Given the description of an element on the screen output the (x, y) to click on. 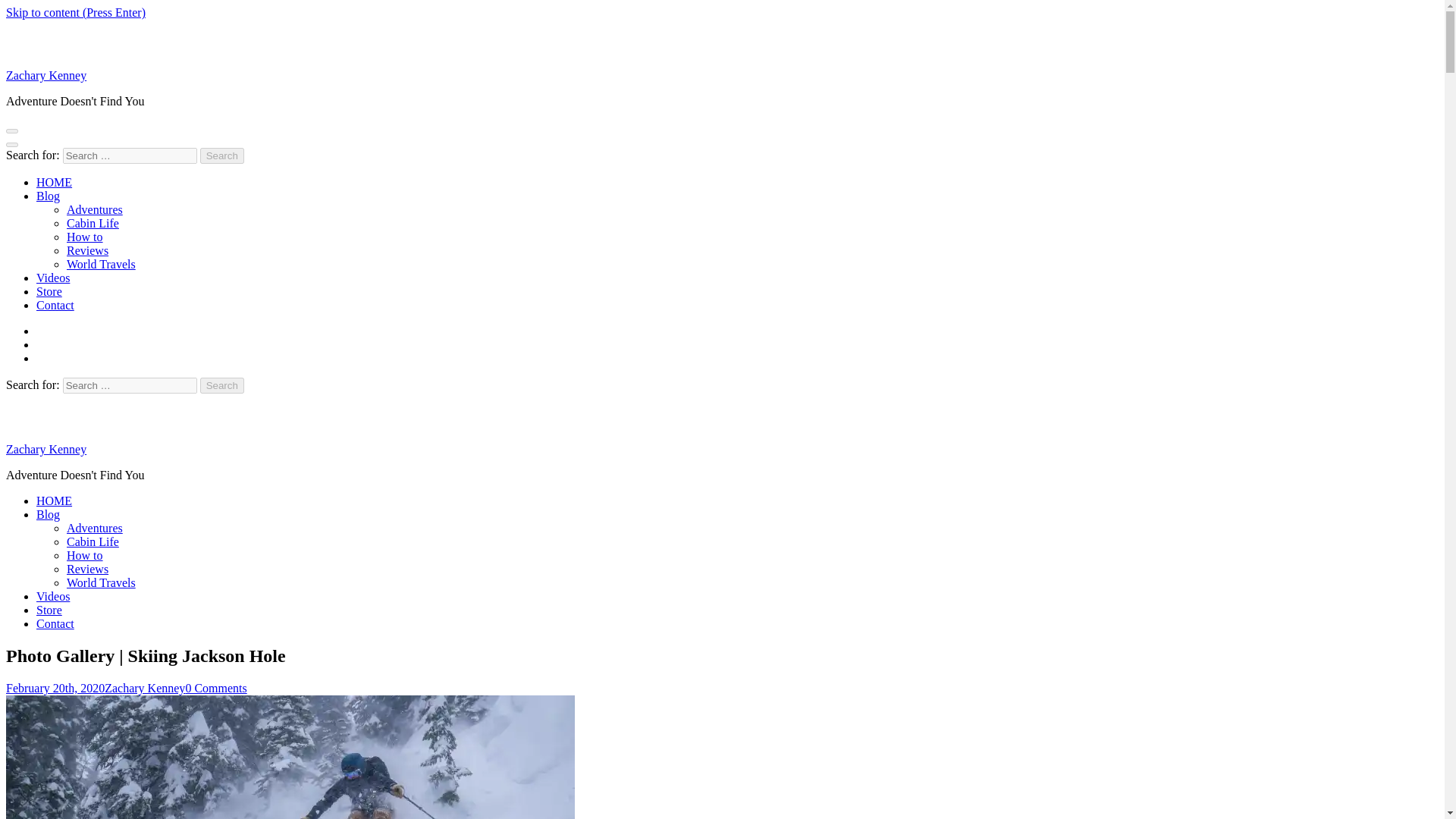
Search (222, 155)
Cabin Life (92, 541)
Blog (47, 513)
Search (222, 155)
Zachary Kenney (144, 687)
Search (222, 385)
Store (49, 609)
How to (84, 554)
Cabin Life (92, 223)
How to (84, 236)
Adventures (94, 209)
February 20th, 2020 (54, 687)
HOME (53, 182)
Search (222, 385)
0 Comments (215, 687)
